Given the description of an element on the screen output the (x, y) to click on. 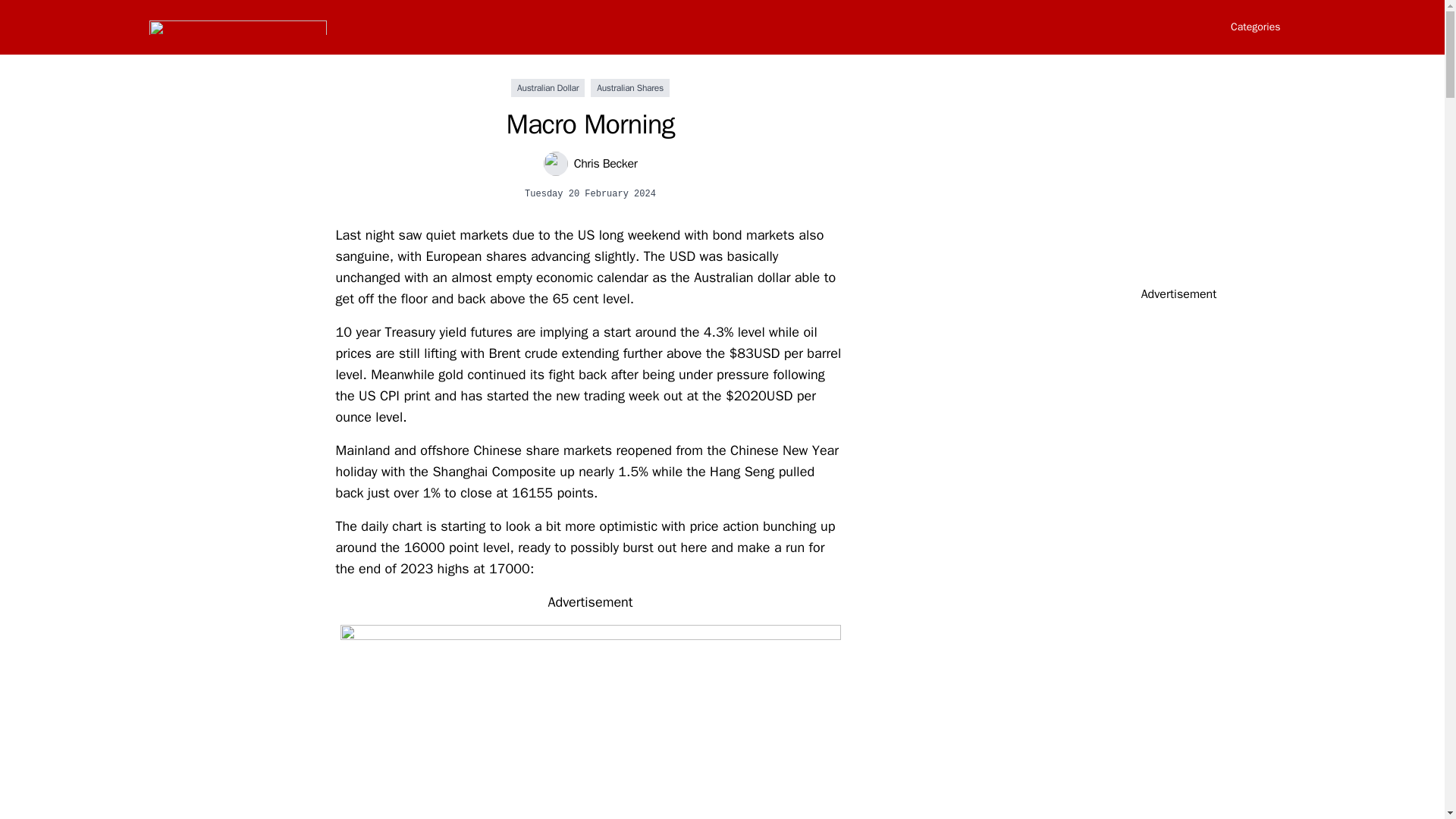
Australian Dollar (548, 87)
Chris Becker (590, 163)
Categories (1254, 27)
Australian Shares (630, 87)
